Given the description of an element on the screen output the (x, y) to click on. 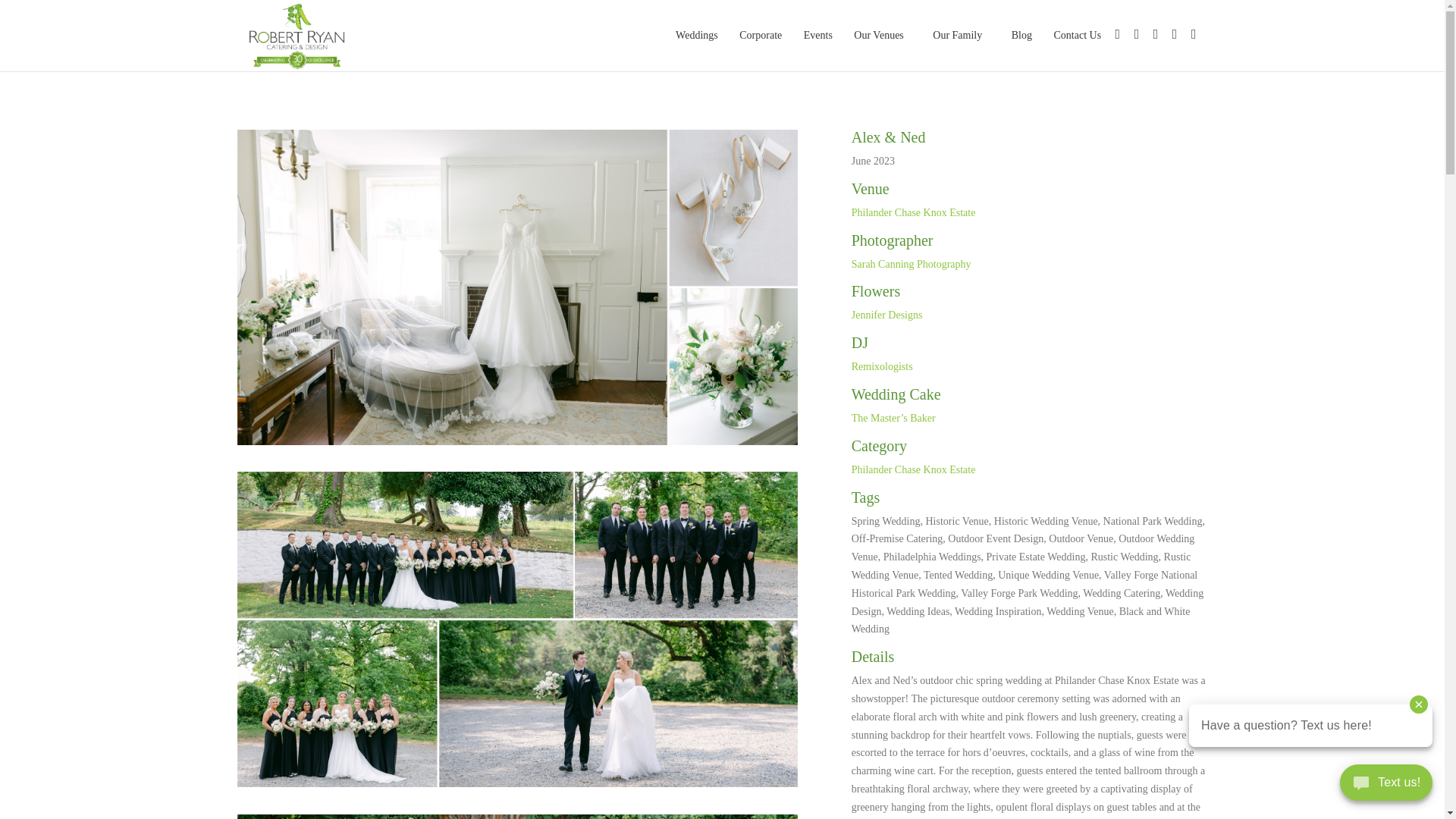
Collage of bride's wedding day attire (516, 444)
Contact Us (1077, 35)
Events (818, 35)
Wedding Party (516, 786)
Our Family (960, 35)
Our Venues (881, 35)
Blog (1021, 35)
Corporate (760, 35)
Weddings (696, 35)
